Given the description of an element on the screen output the (x, y) to click on. 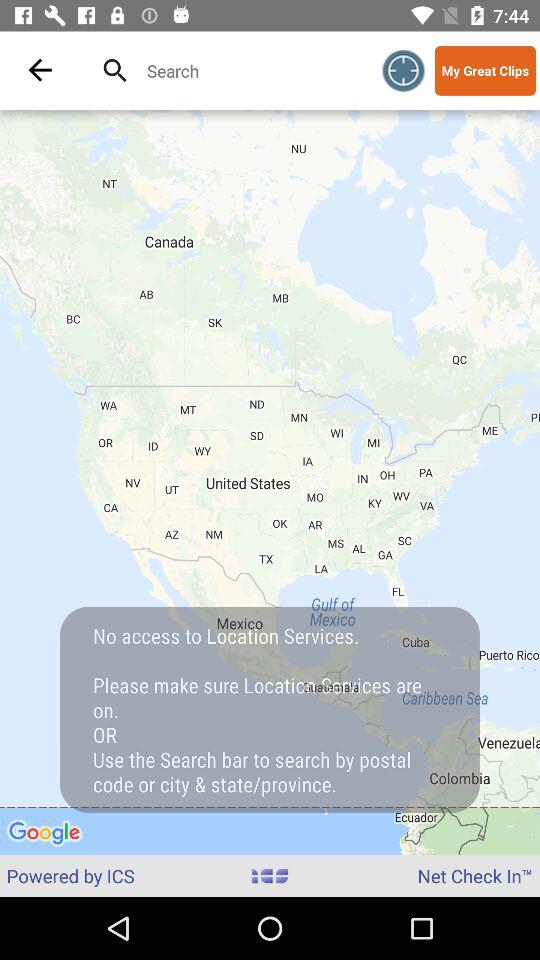
jump until my great clips item (485, 70)
